Given the description of an element on the screen output the (x, y) to click on. 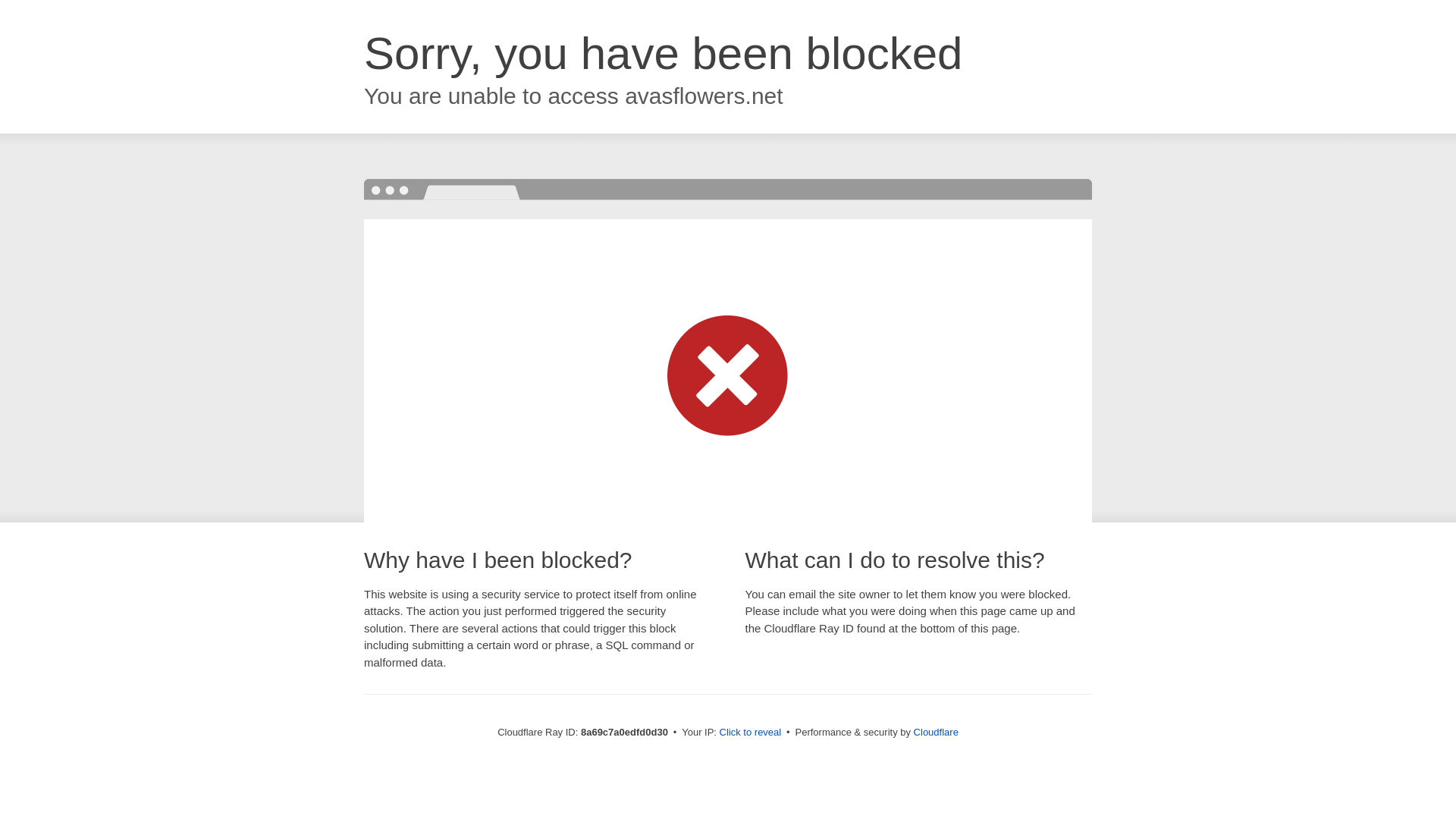
Cloudflare (936, 731)
Click to reveal (750, 732)
